Given the description of an element on the screen output the (x, y) to click on. 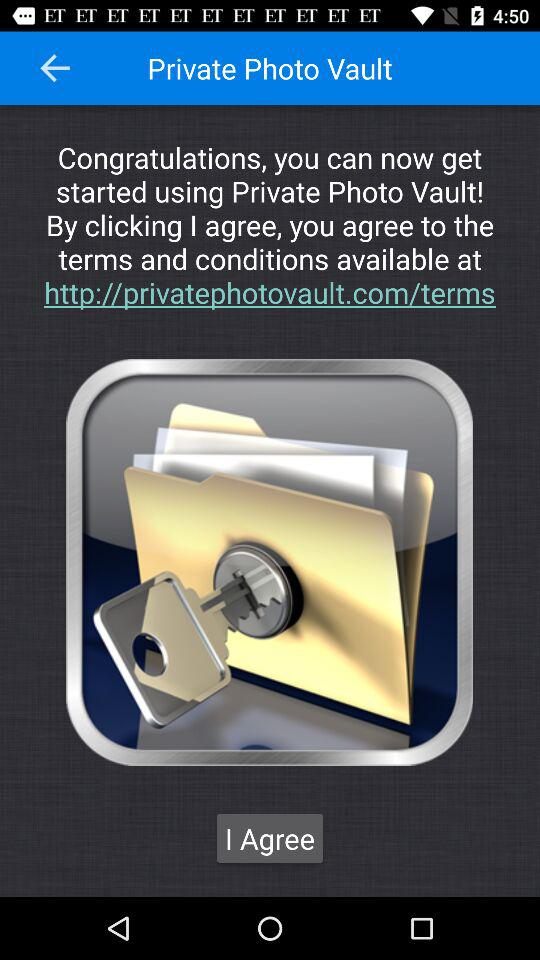
flip to congratulations you can item (270, 224)
